Given the description of an element on the screen output the (x, y) to click on. 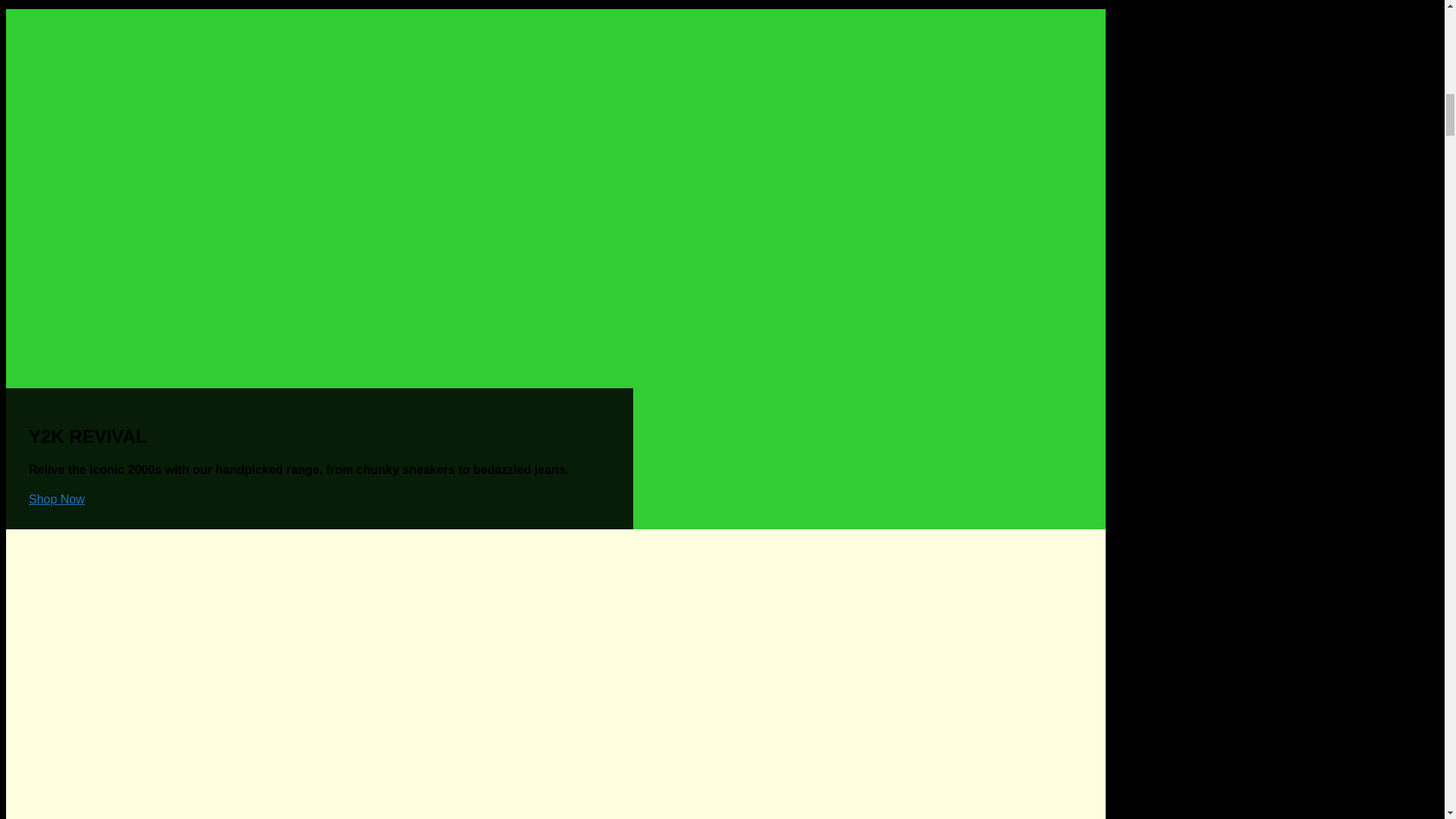
Shop Now (56, 499)
